Given the description of an element on the screen output the (x, y) to click on. 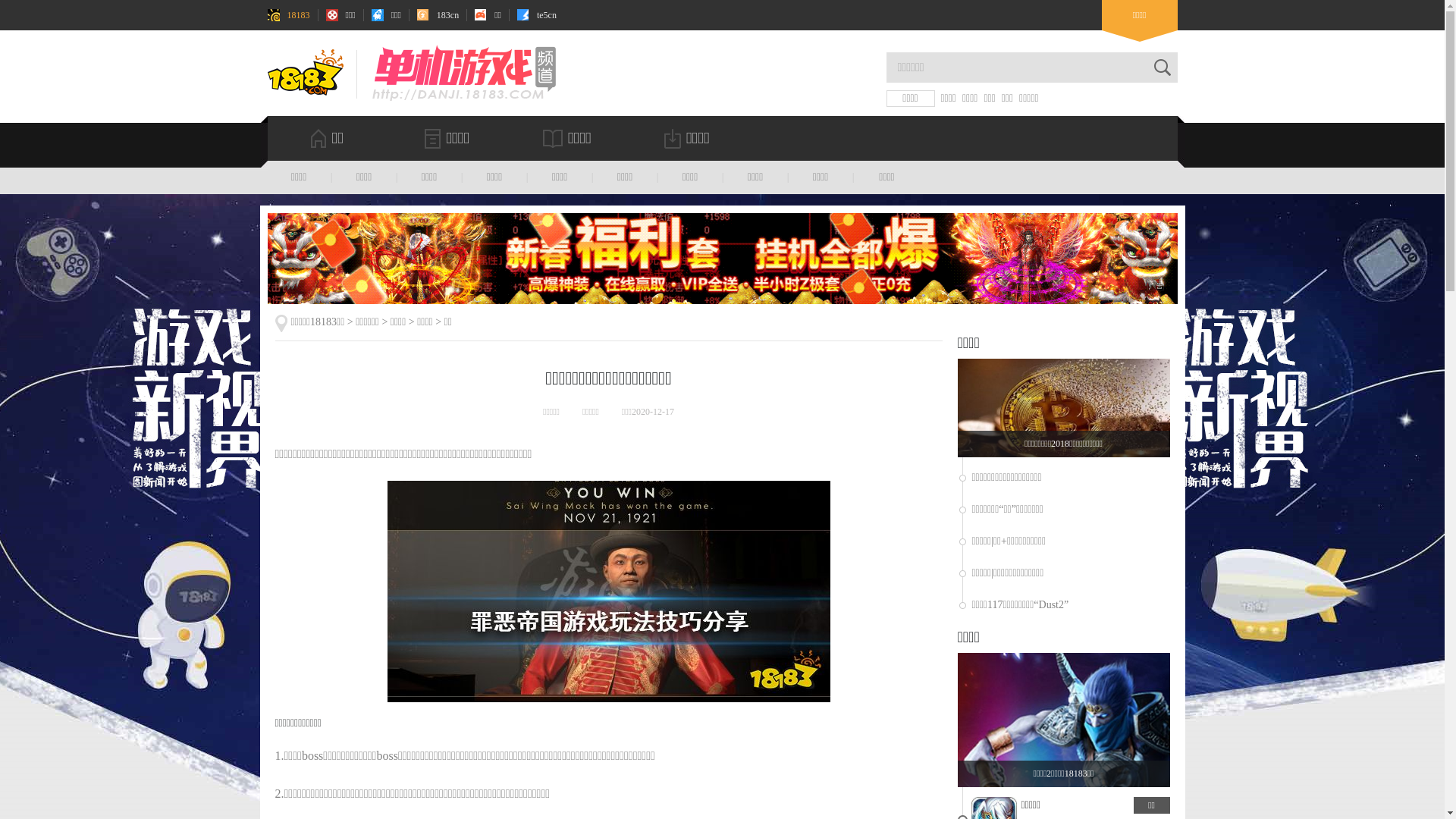
te5cn Element type: text (536, 14)
183cn Element type: text (437, 14)
18183 Element type: text (287, 14)
